Given the description of an element on the screen output the (x, y) to click on. 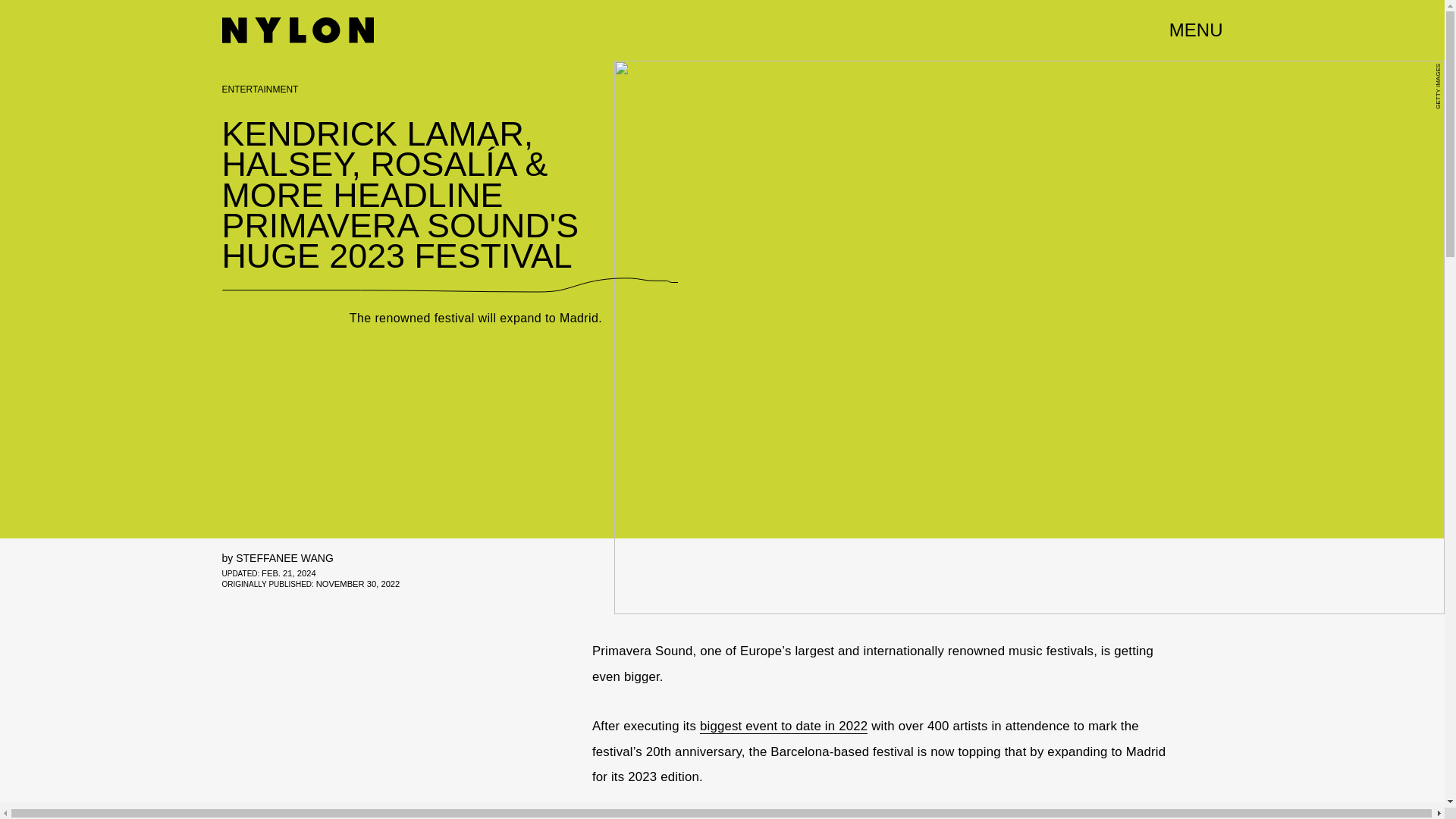
Nylon (296, 30)
STEFFANEE WANG (284, 558)
biggest event to date in 2022 (783, 726)
